Given the description of an element on the screen output the (x, y) to click on. 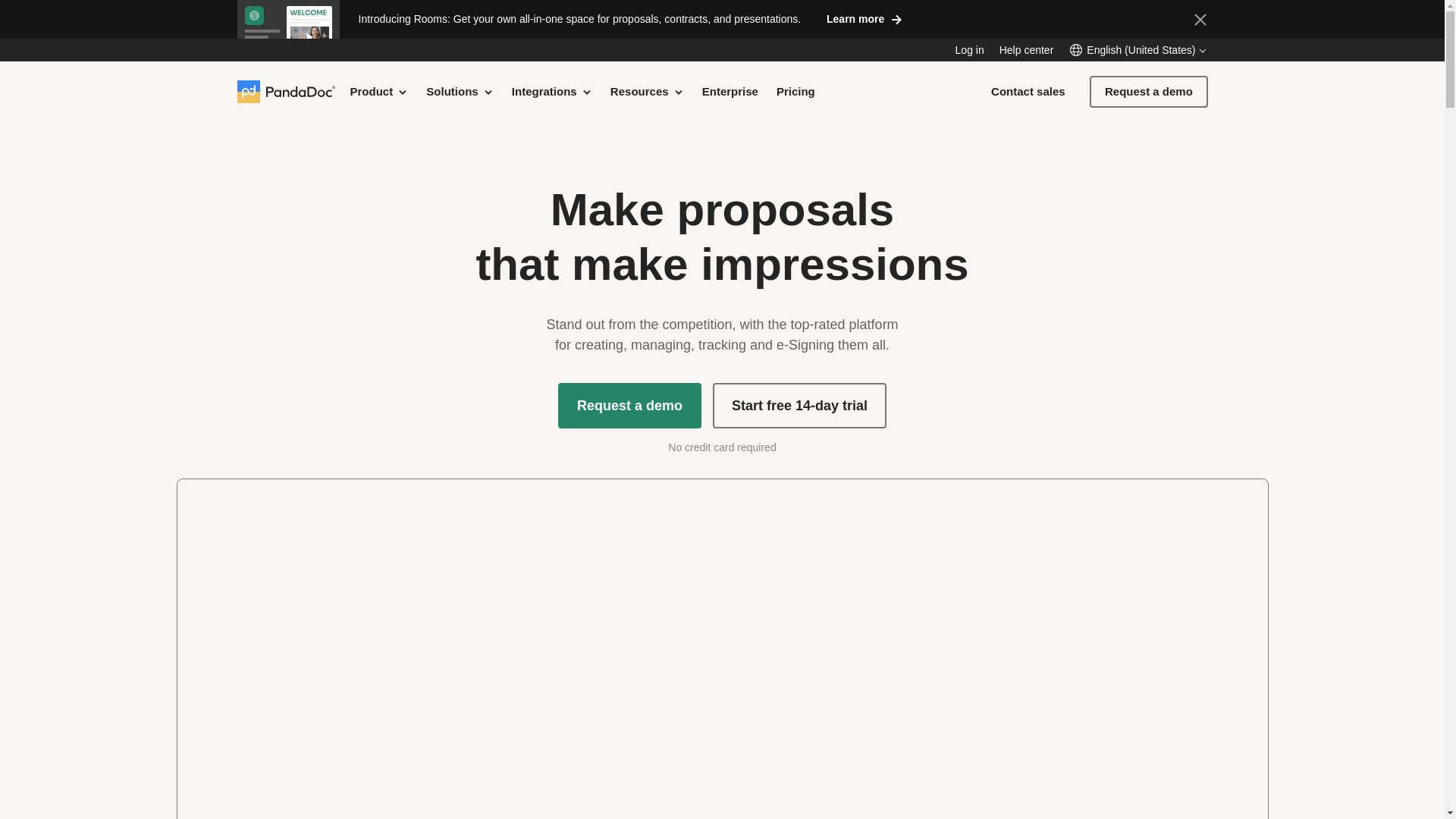
Solutions (459, 91)
Log in (969, 50)
Help center (1026, 50)
Learn more (864, 18)
Product (379, 91)
